Given the description of an element on the screen output the (x, y) to click on. 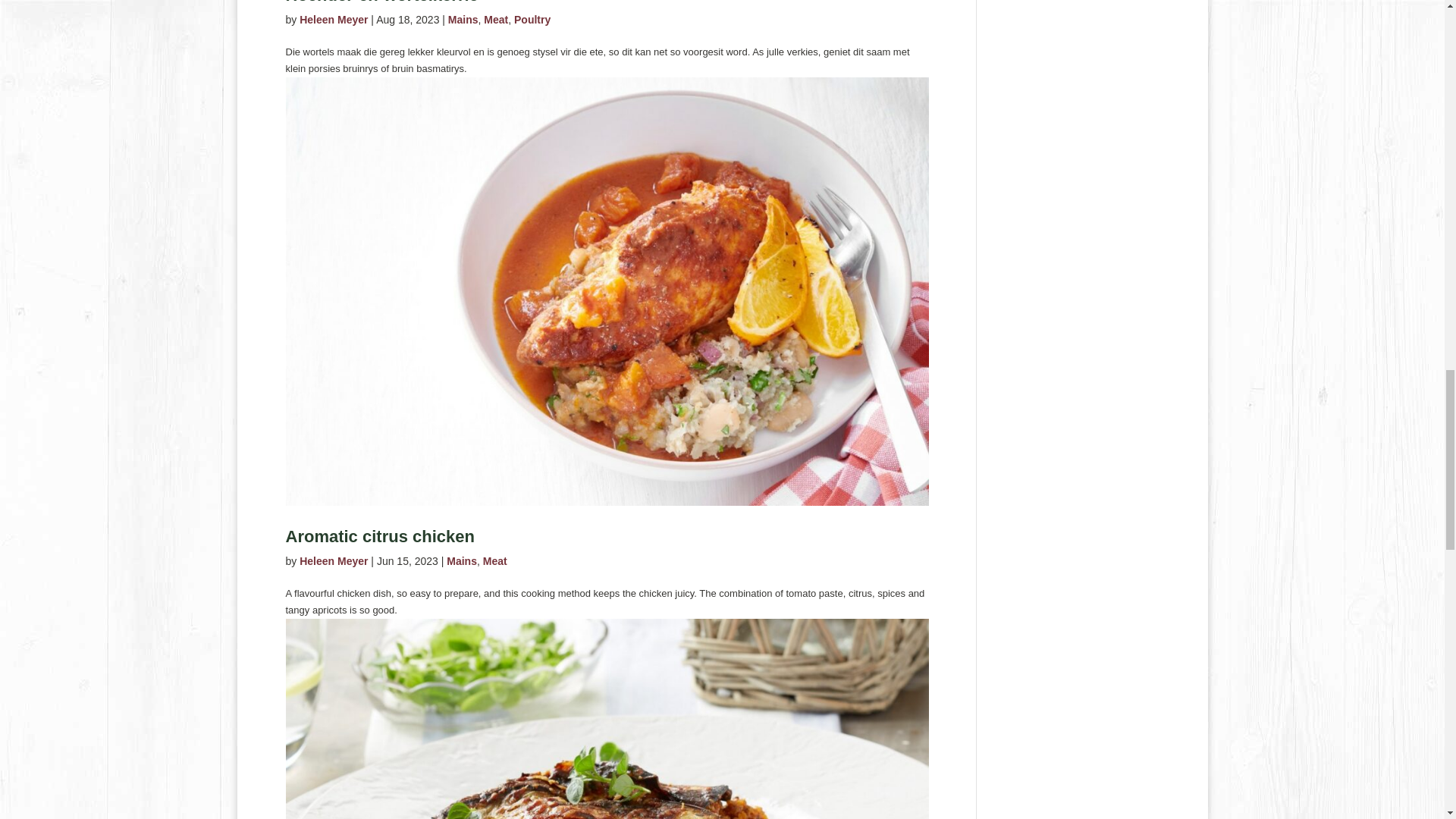
Heleen Meyer (333, 19)
Poultry (531, 19)
Meat (495, 19)
Posts by Heleen Meyer (333, 19)
Aromatic citrus chicken (379, 536)
Posts by Heleen Meyer (333, 561)
Mains (463, 19)
Hoender-en-wortelkerrie (381, 2)
